Given the description of an element on the screen output the (x, y) to click on. 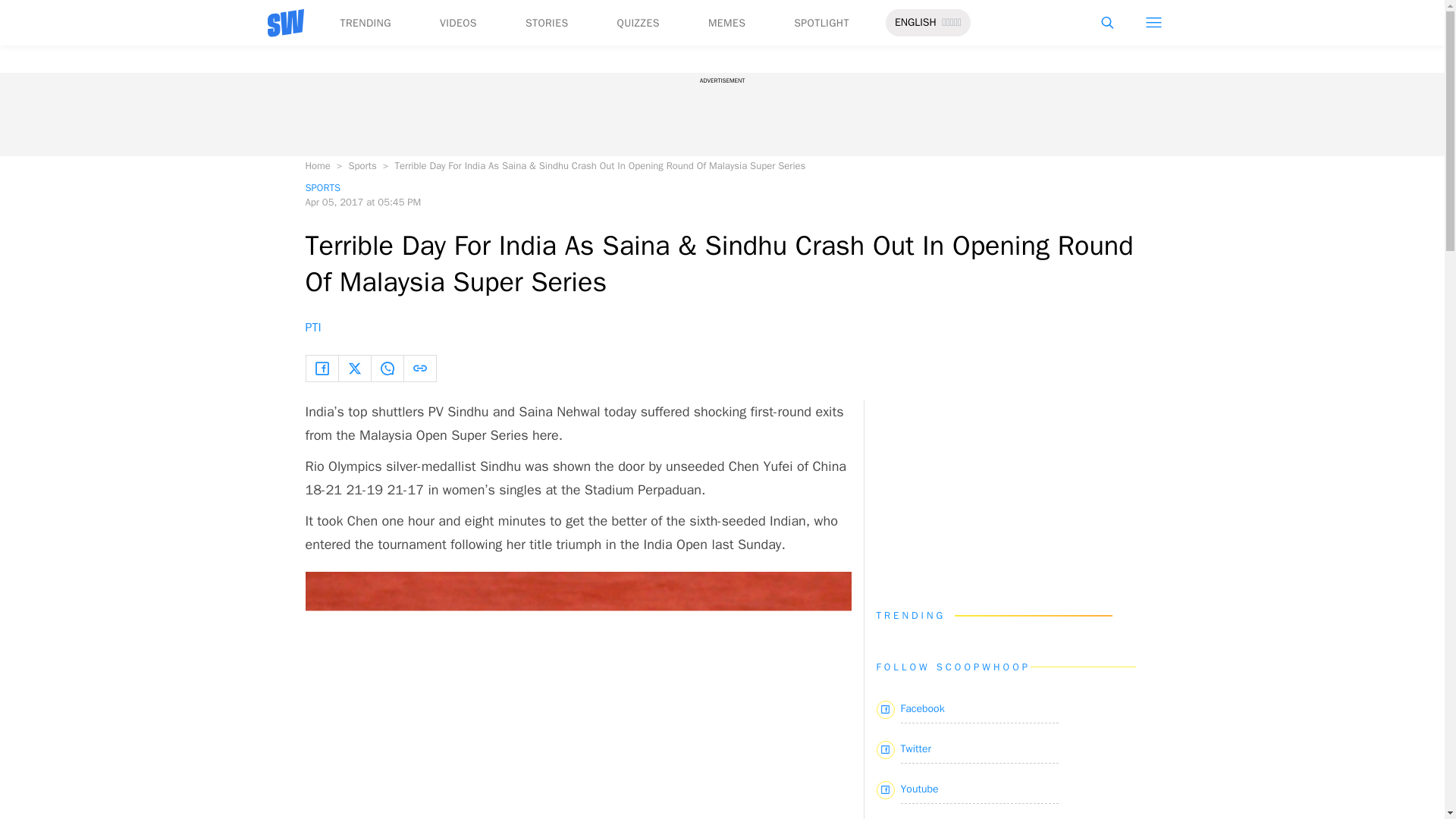
ENGLISH (915, 22)
SPOTLIGHT (820, 22)
STORIES (547, 22)
TRENDING (364, 22)
MEMES (726, 22)
QUIZZES (638, 22)
VIDEOS (458, 22)
